Given the description of an element on the screen output the (x, y) to click on. 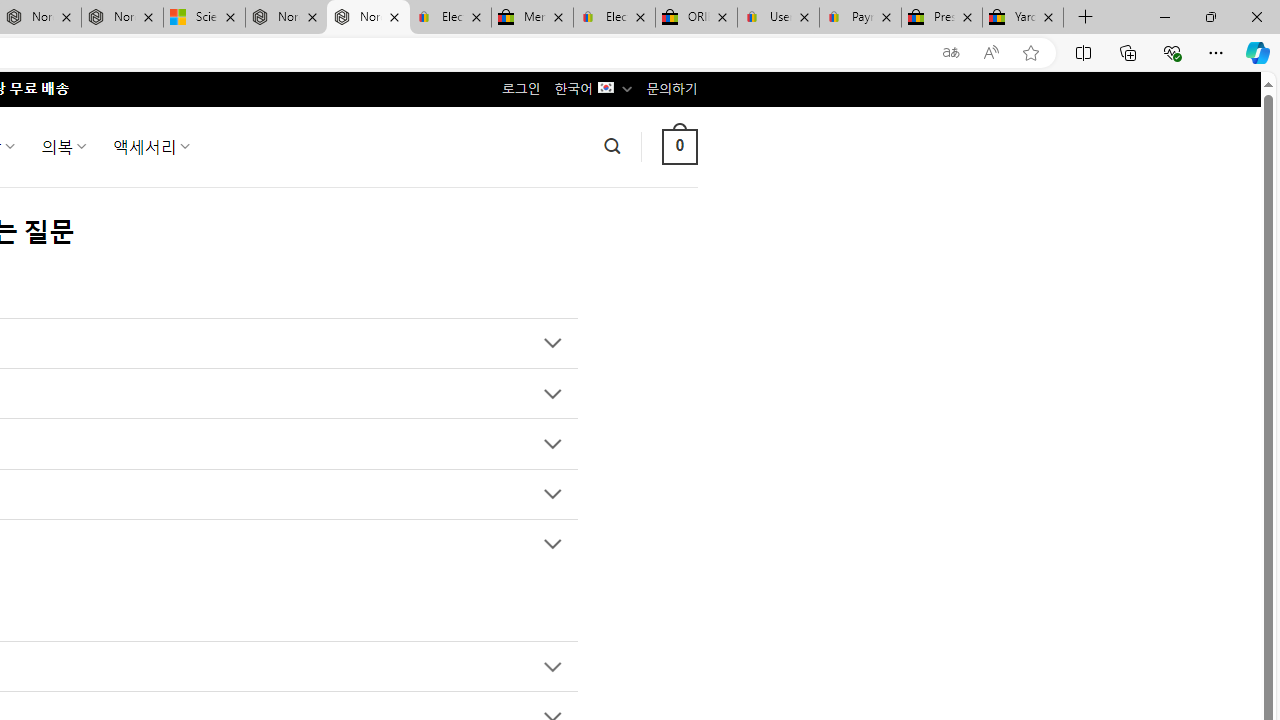
  0   (679, 146)
